Given the description of an element on the screen output the (x, y) to click on. 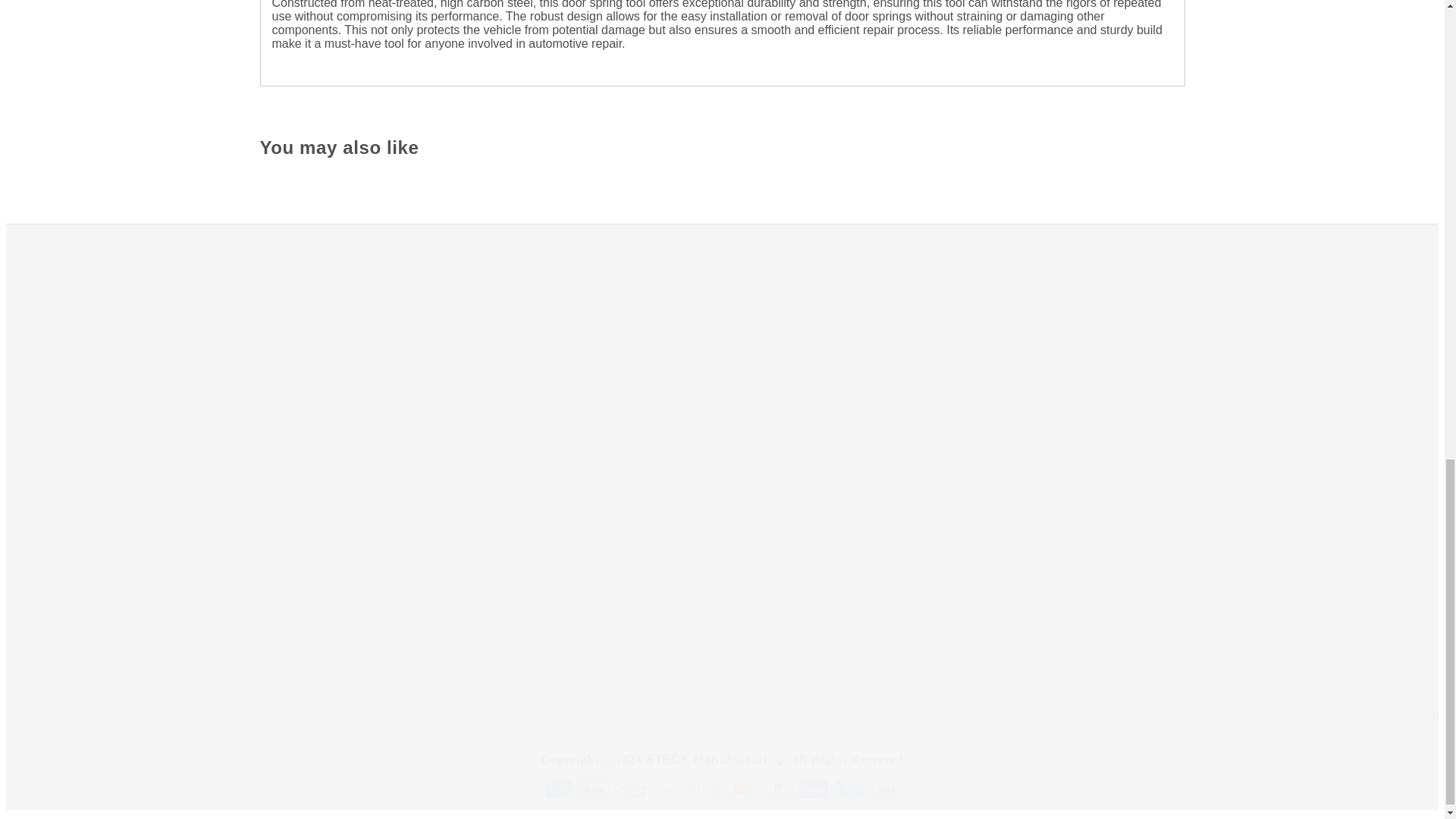
Independent Auto Repair Shop (1006, 457)
Other (1006, 532)
tel:937-222-0062 (534, 397)
